Given the description of an element on the screen output the (x, y) to click on. 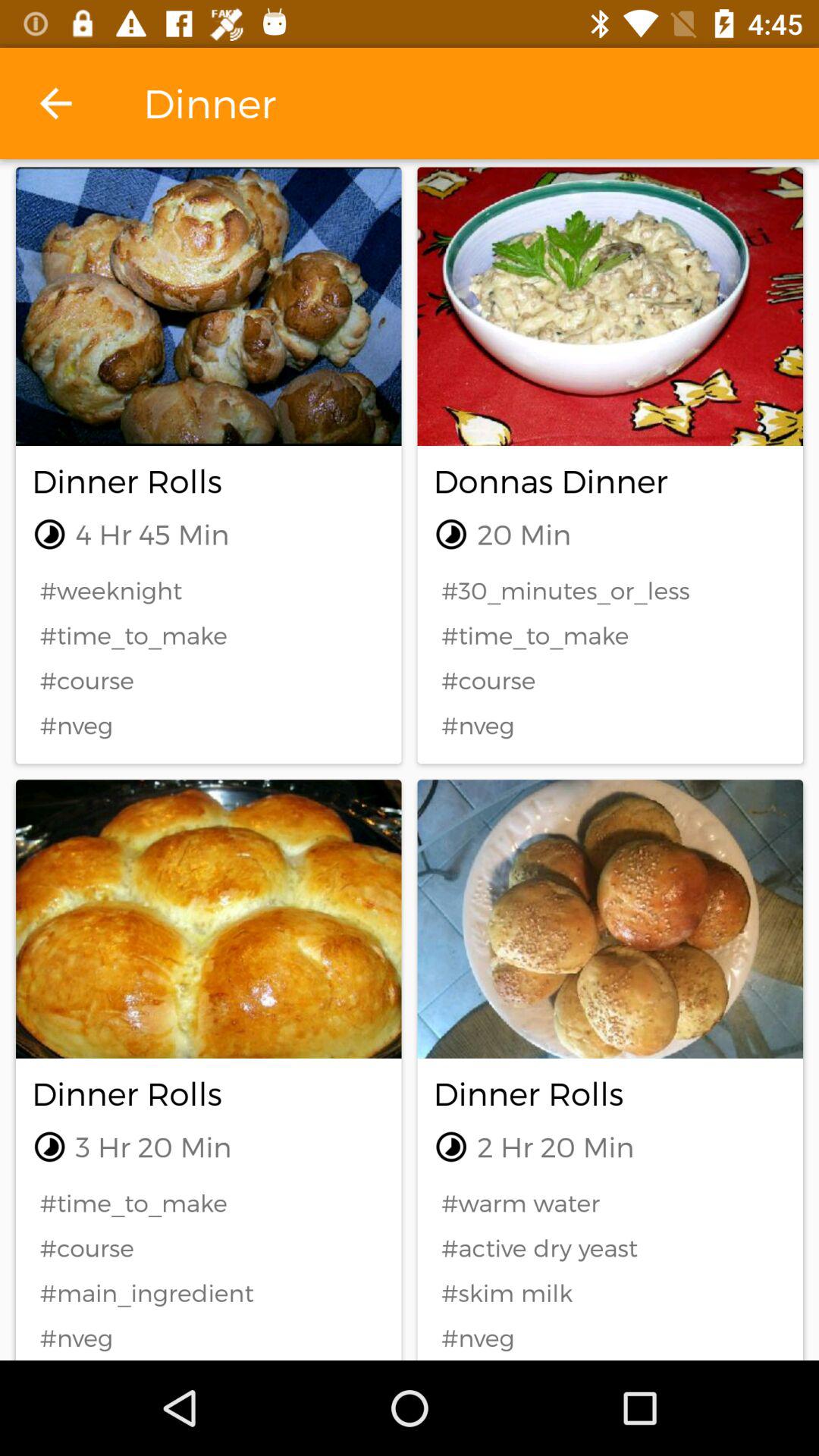
choose the icon next to #weeknight item (610, 590)
